Given the description of an element on the screen output the (x, y) to click on. 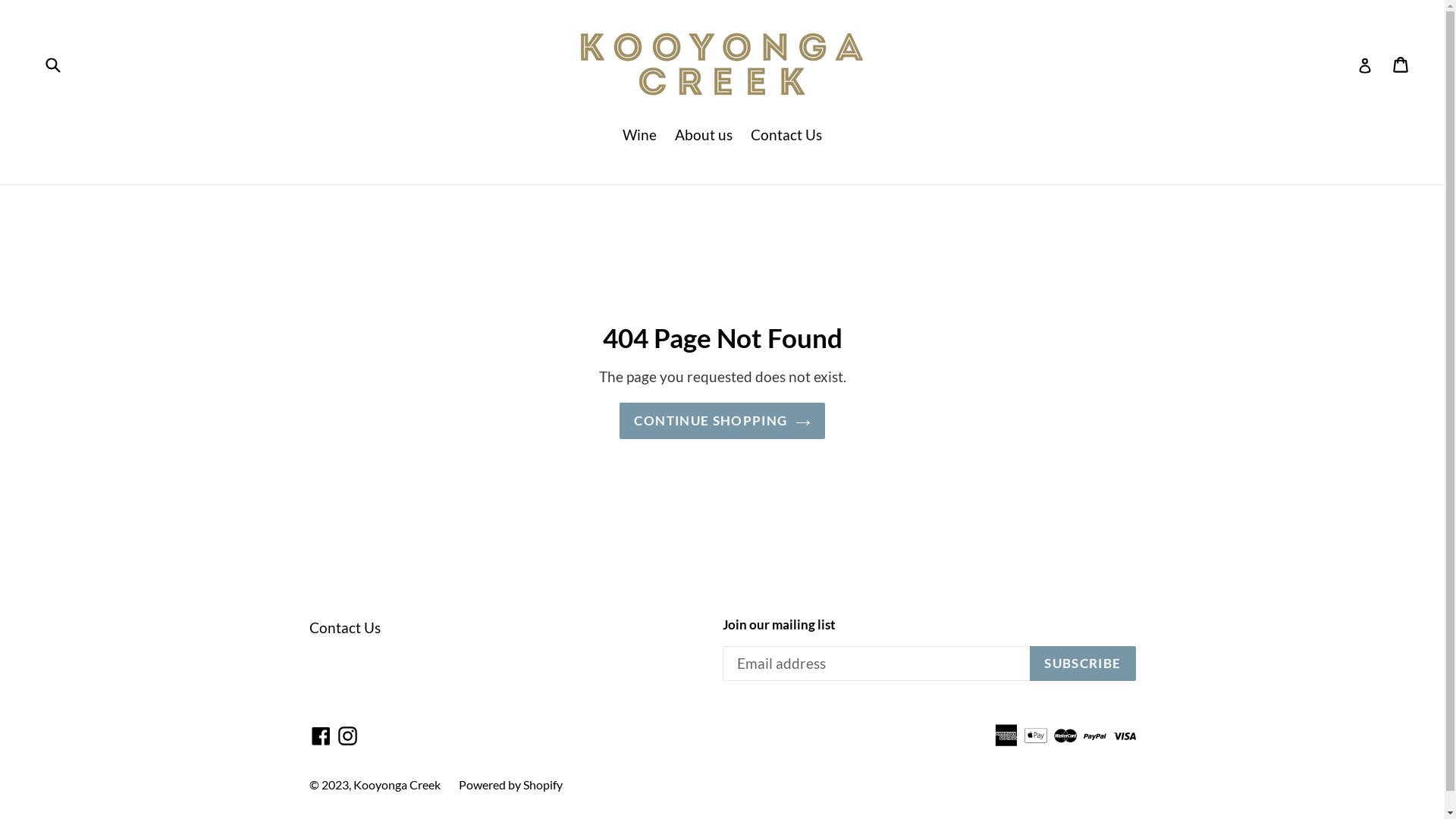
Wine Element type: text (639, 136)
Facebook Element type: text (320, 735)
Cart
Cart Element type: text (1401, 63)
Instagram Element type: text (346, 735)
Powered by Shopify Element type: text (509, 784)
Log in Element type: text (1364, 64)
Submit Element type: text (51, 64)
About us Element type: text (703, 136)
Kooyonga Creek Element type: text (396, 784)
Contact Us Element type: text (786, 136)
SUBSCRIBE Element type: text (1082, 663)
Contact Us Element type: text (344, 627)
CONTINUE SHOPPING Element type: text (721, 420)
